Given the description of an element on the screen output the (x, y) to click on. 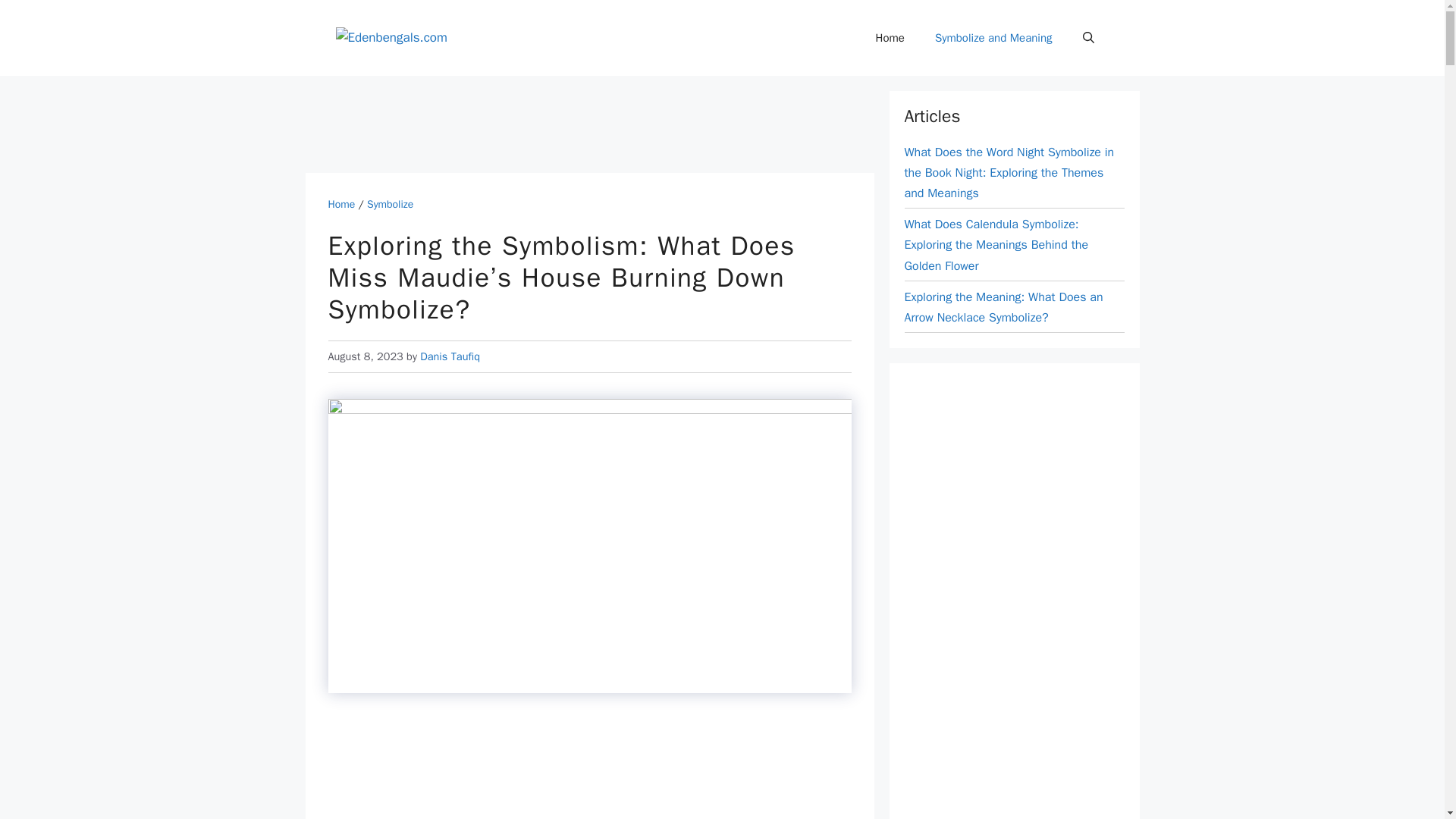
Home (890, 37)
Danis Taufiq (450, 356)
Symbolize (389, 204)
Home (341, 204)
View all posts by Danis Taufiq (450, 356)
Symbolize and Meaning (993, 37)
